Given the description of an element on the screen output the (x, y) to click on. 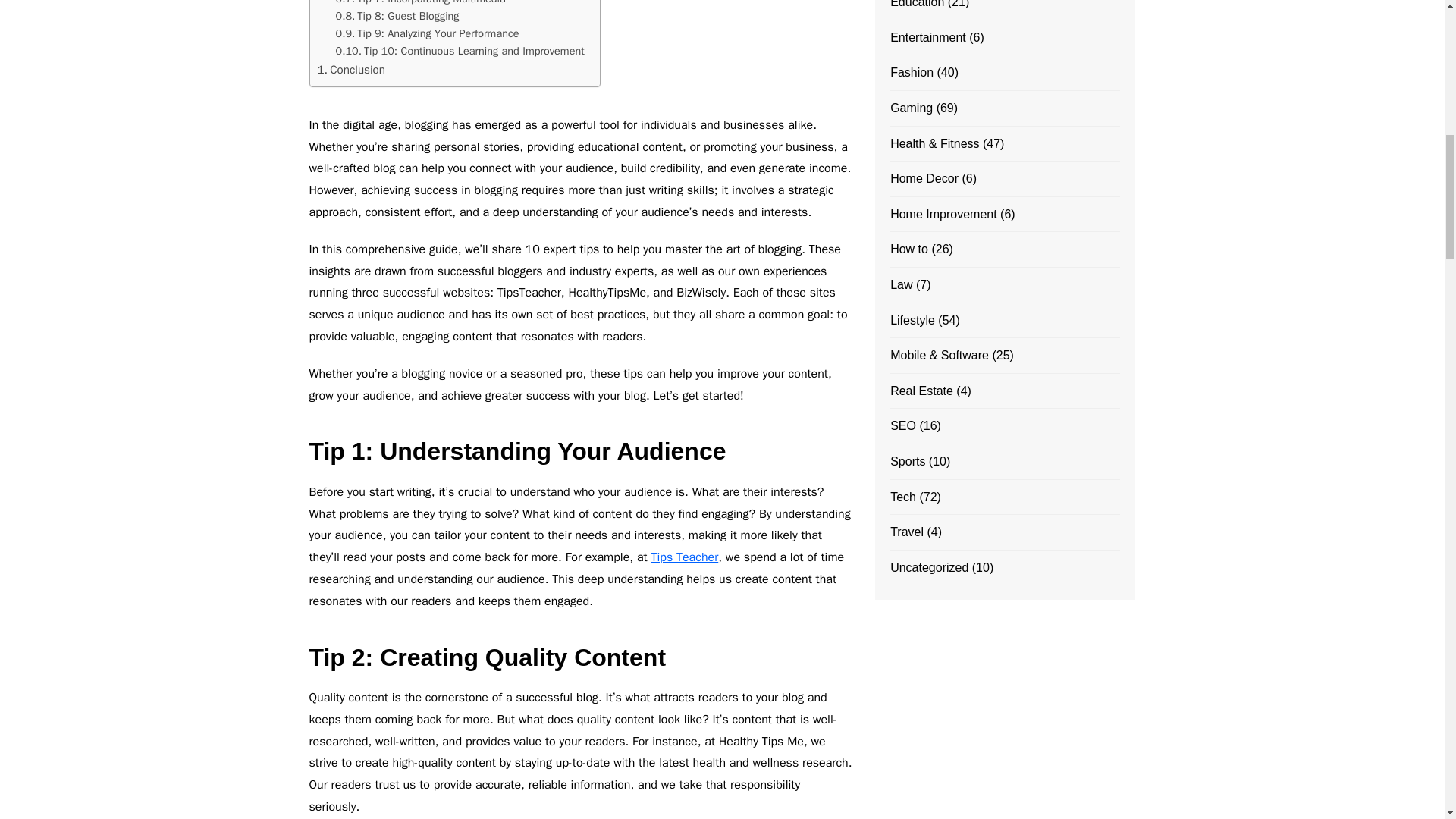
Tip 9: Analyzing Your Performance (426, 33)
Tip 9: Analyzing Your Performance (426, 33)
Tip 8: Guest Blogging (396, 16)
Tip 10: Continuous Learning and Improvement (458, 50)
Tip 7: Incorporating Multimedia (419, 3)
Conclusion (350, 69)
Tip 7: Incorporating Multimedia (419, 3)
Tip 10: Continuous Learning and Improvement (458, 50)
Tips Teacher (683, 557)
Conclusion (350, 69)
Tip 8: Guest Blogging (396, 16)
